Given the description of an element on the screen output the (x, y) to click on. 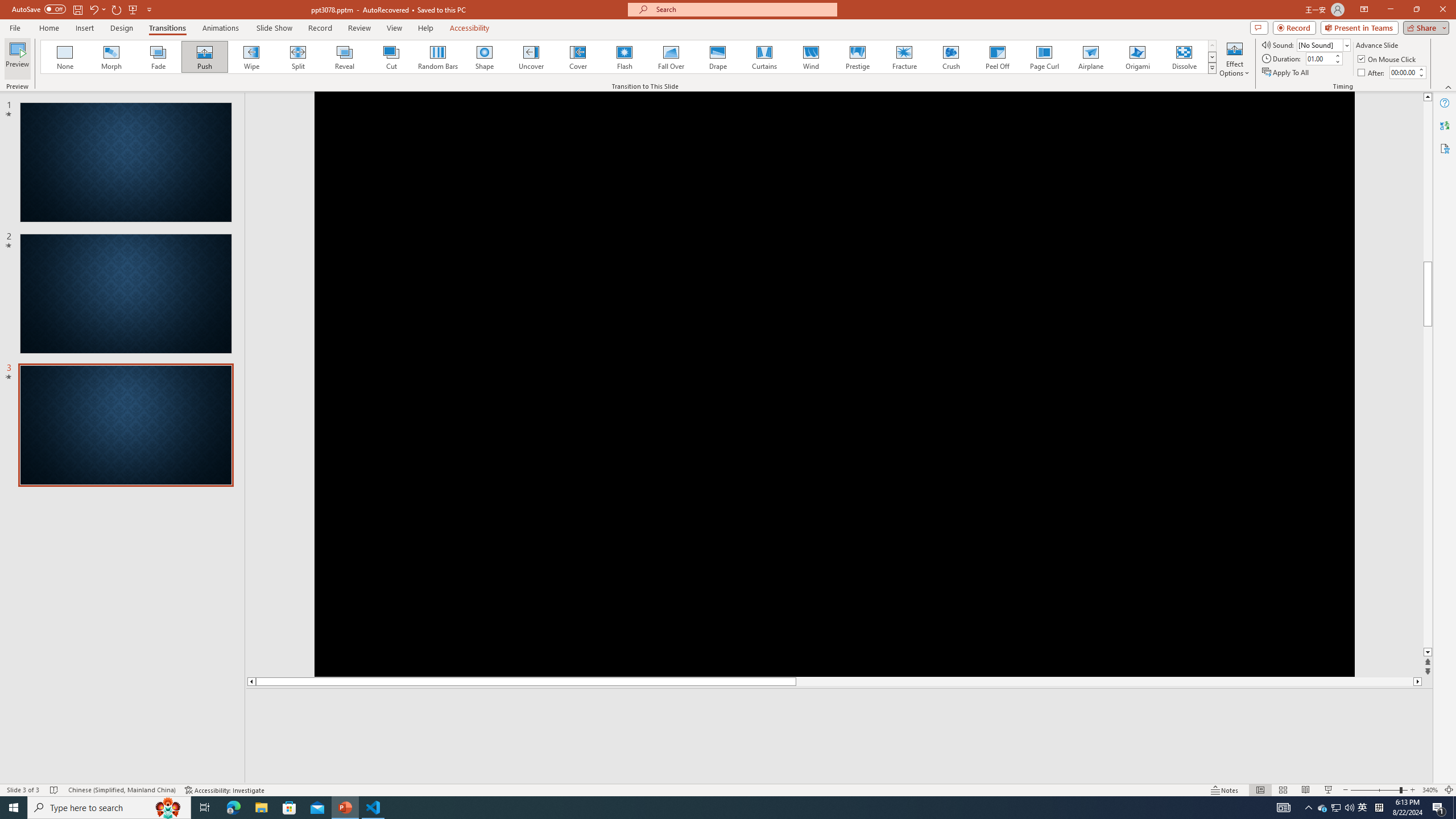
Dissolve (1183, 56)
Origami (1136, 56)
Push (205, 56)
After (1403, 72)
Cover (577, 56)
